Given the description of an element on the screen output the (x, y) to click on. 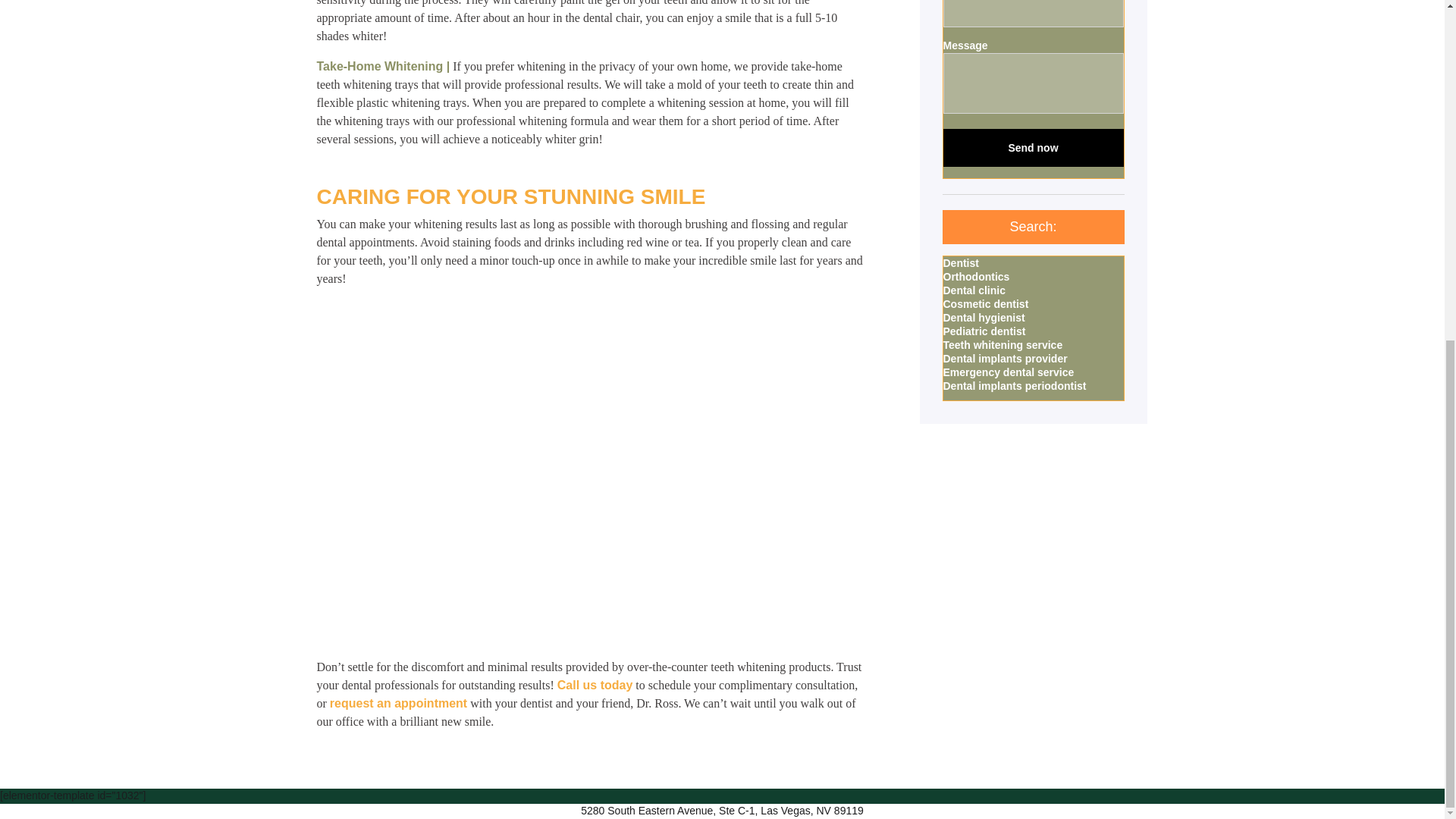
Send now (1033, 147)
Call us today (595, 684)
Send now (1033, 147)
request an appointment (398, 703)
